Given the description of an element on the screen output the (x, y) to click on. 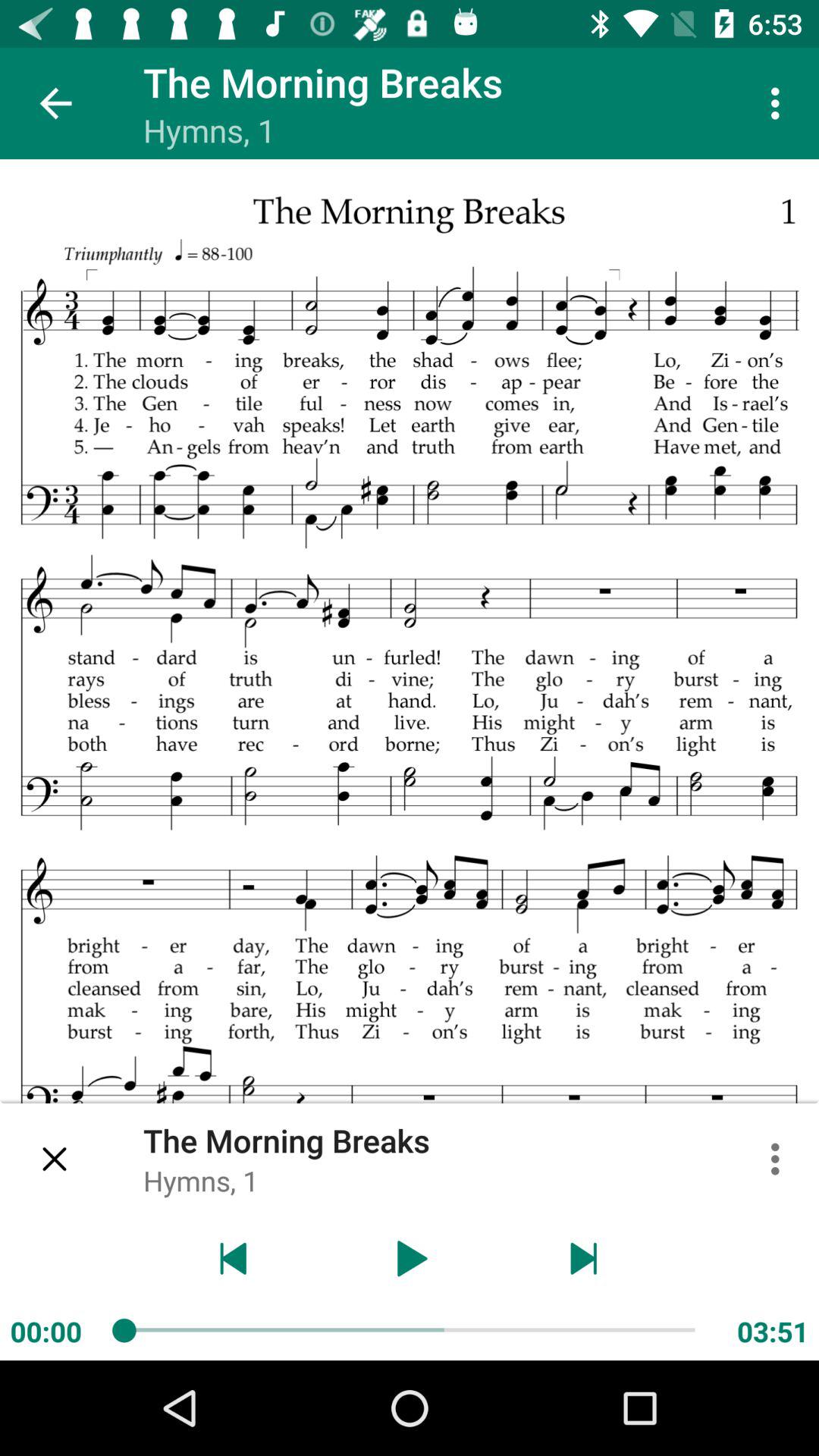
play music (409, 1258)
